Given the description of an element on the screen output the (x, y) to click on. 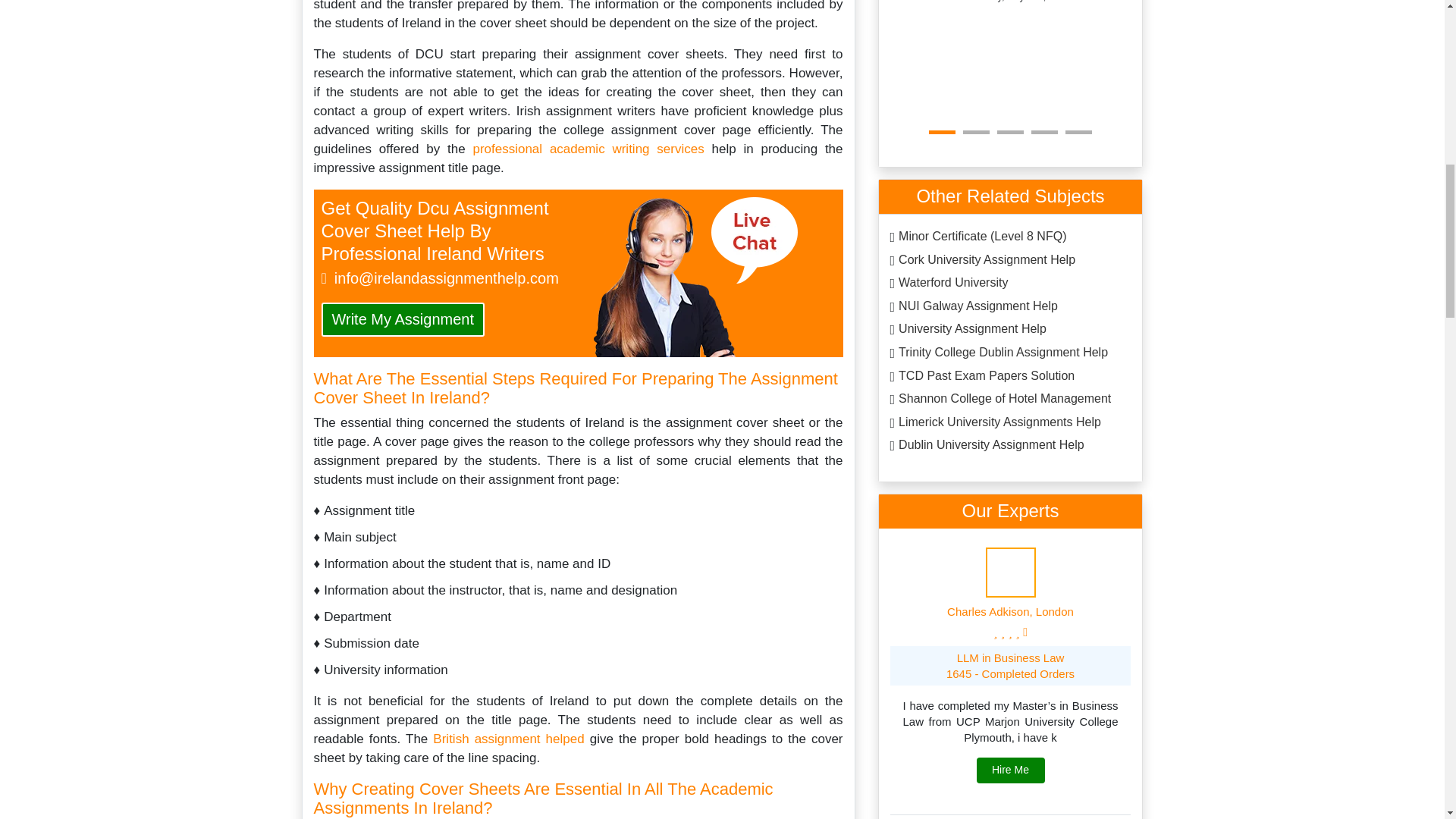
Limerick University Assignments Help (999, 422)
Academic Writing Services (587, 148)
University Assignment Help (972, 330)
British Assignment Writers (510, 739)
Dublin University Assignment Help (991, 445)
Waterford University (952, 283)
Cork University Assignment Help (986, 260)
Trinity College Dublin Assignment Help (1003, 353)
TCD Past Exam Papers Solution (986, 377)
NUI Galway Assignment Help (978, 307)
